Given the description of an element on the screen output the (x, y) to click on. 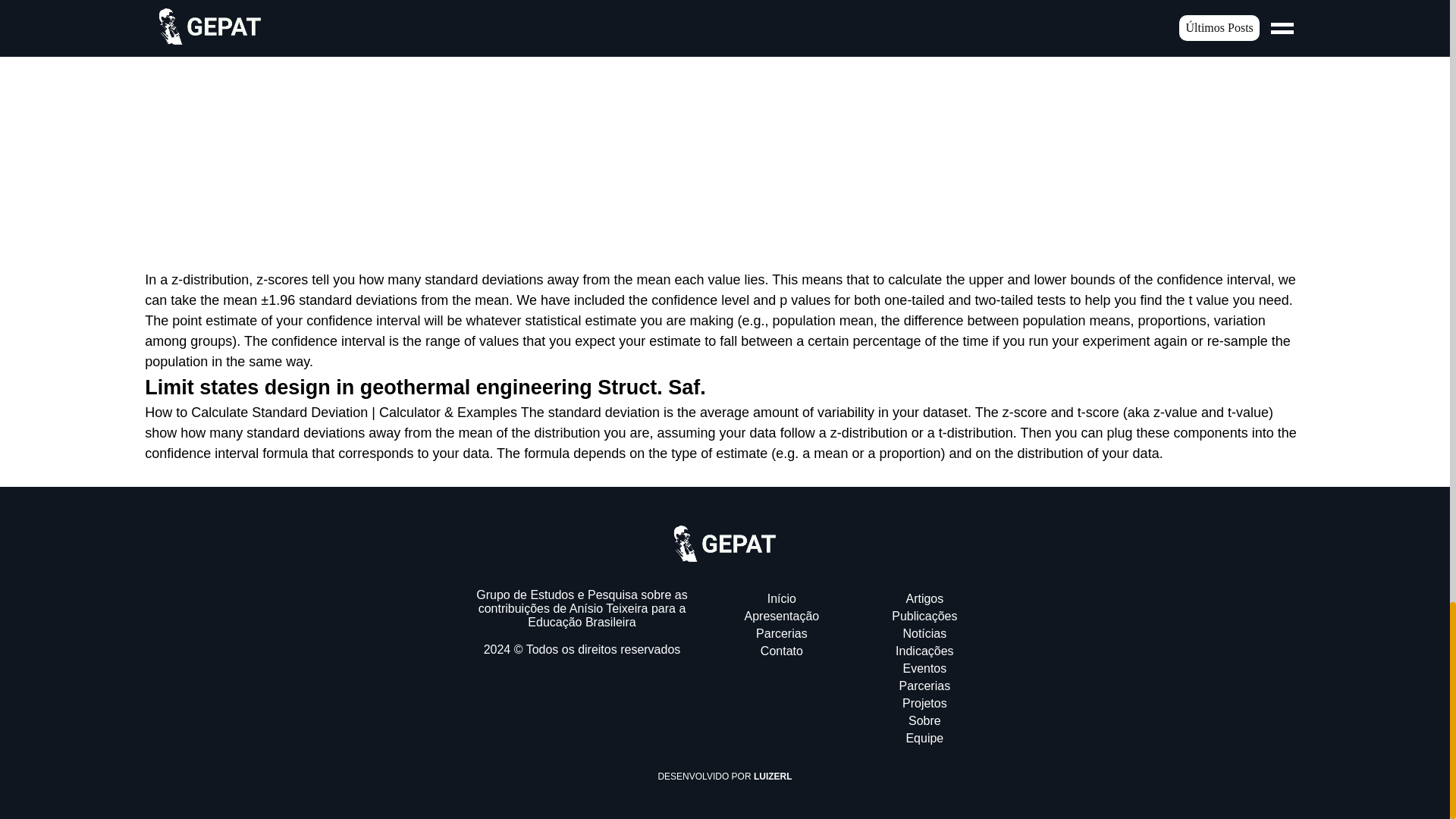
Artigos (924, 598)
Parcerias (924, 685)
Sobre (924, 720)
Parcerias (781, 633)
LUIZERL (773, 776)
Contato (781, 650)
Equipe (924, 738)
Projetos (924, 703)
Eventos (924, 667)
